Given the description of an element on the screen output the (x, y) to click on. 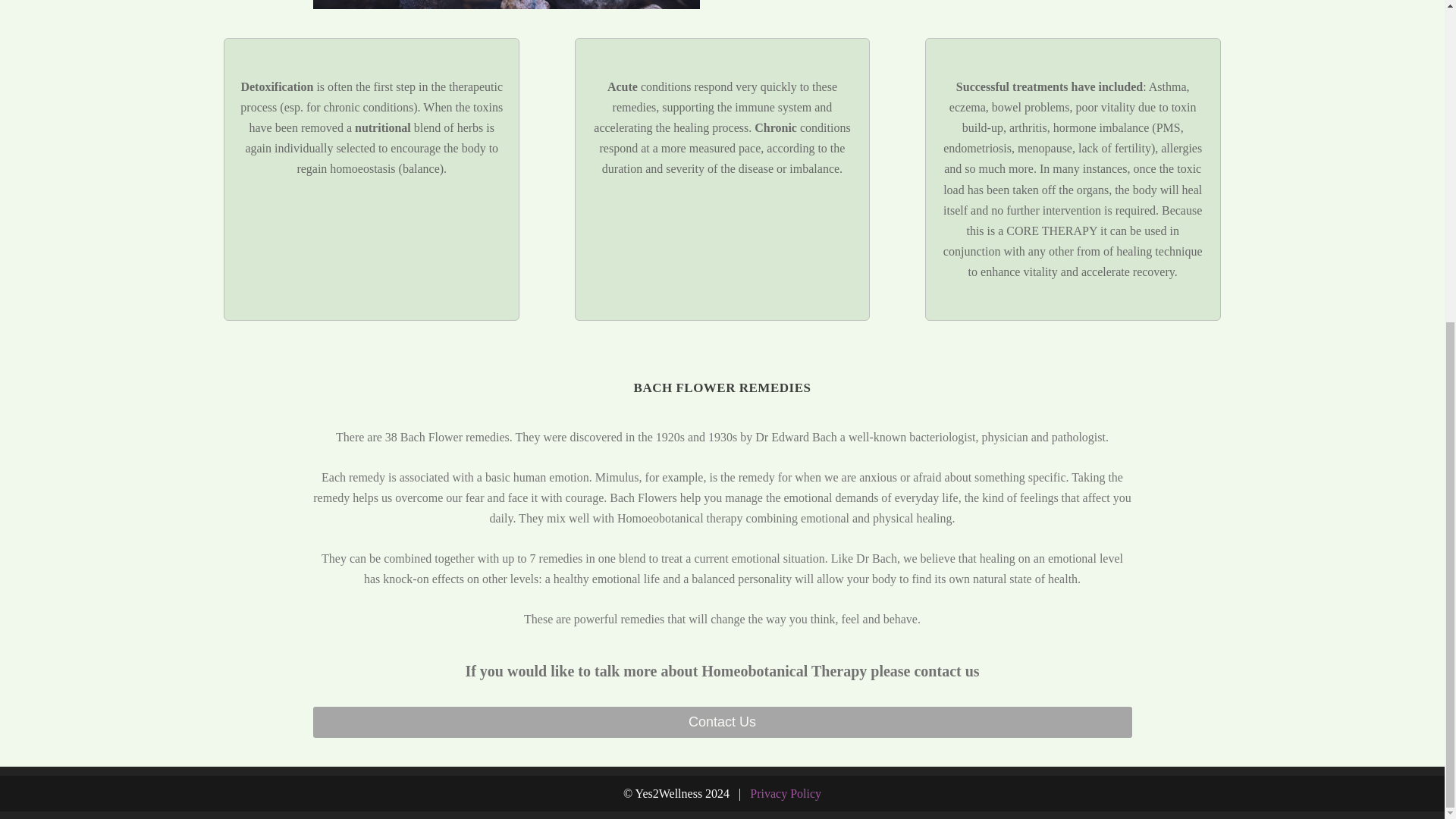
Contact Us (722, 721)
Privacy Policy (785, 793)
